Given the description of an element on the screen output the (x, y) to click on. 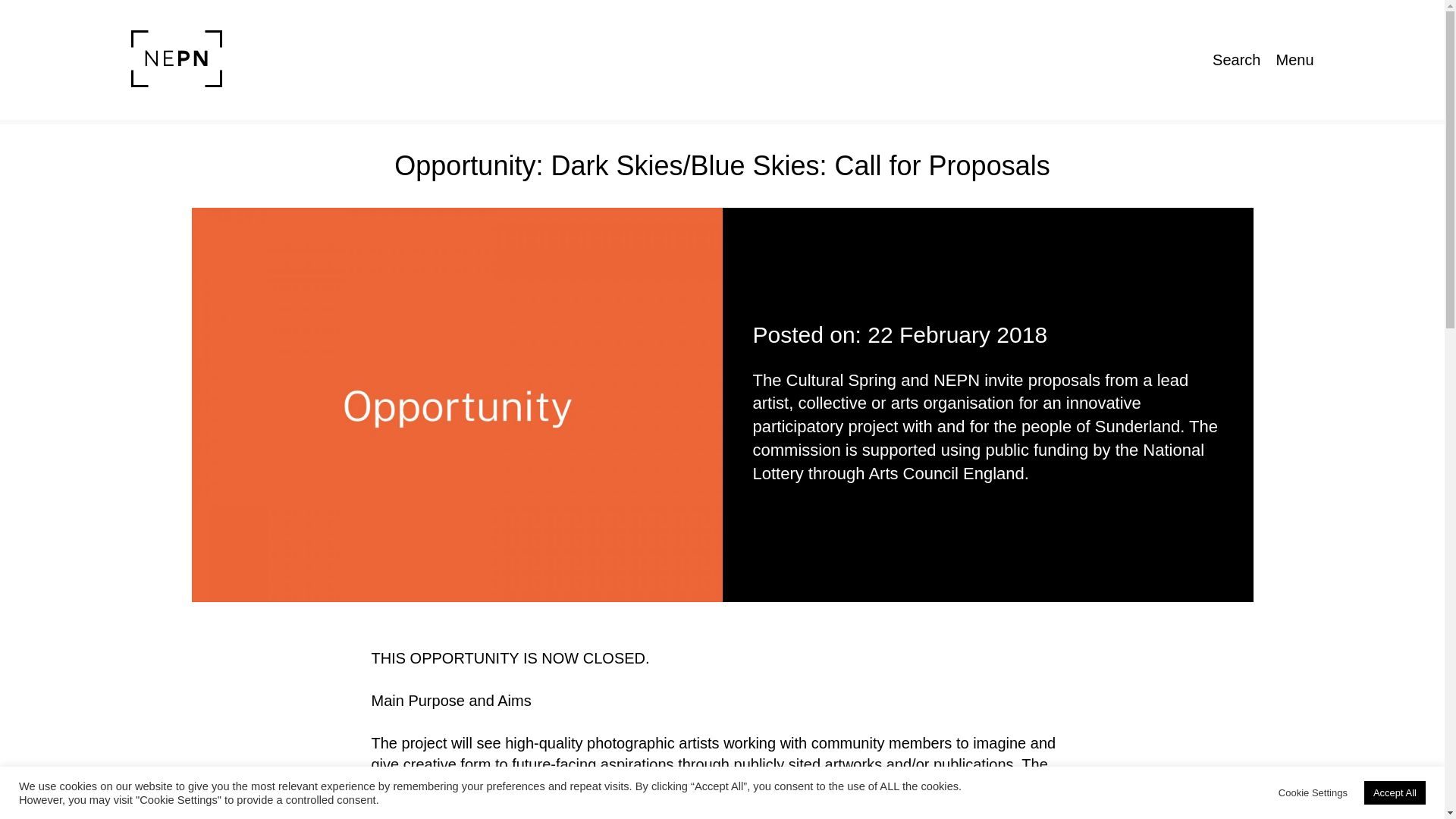
Accept All (1394, 792)
Search (1236, 59)
Cookie Settings (1312, 792)
Menu (1294, 59)
